Given the description of an element on the screen output the (x, y) to click on. 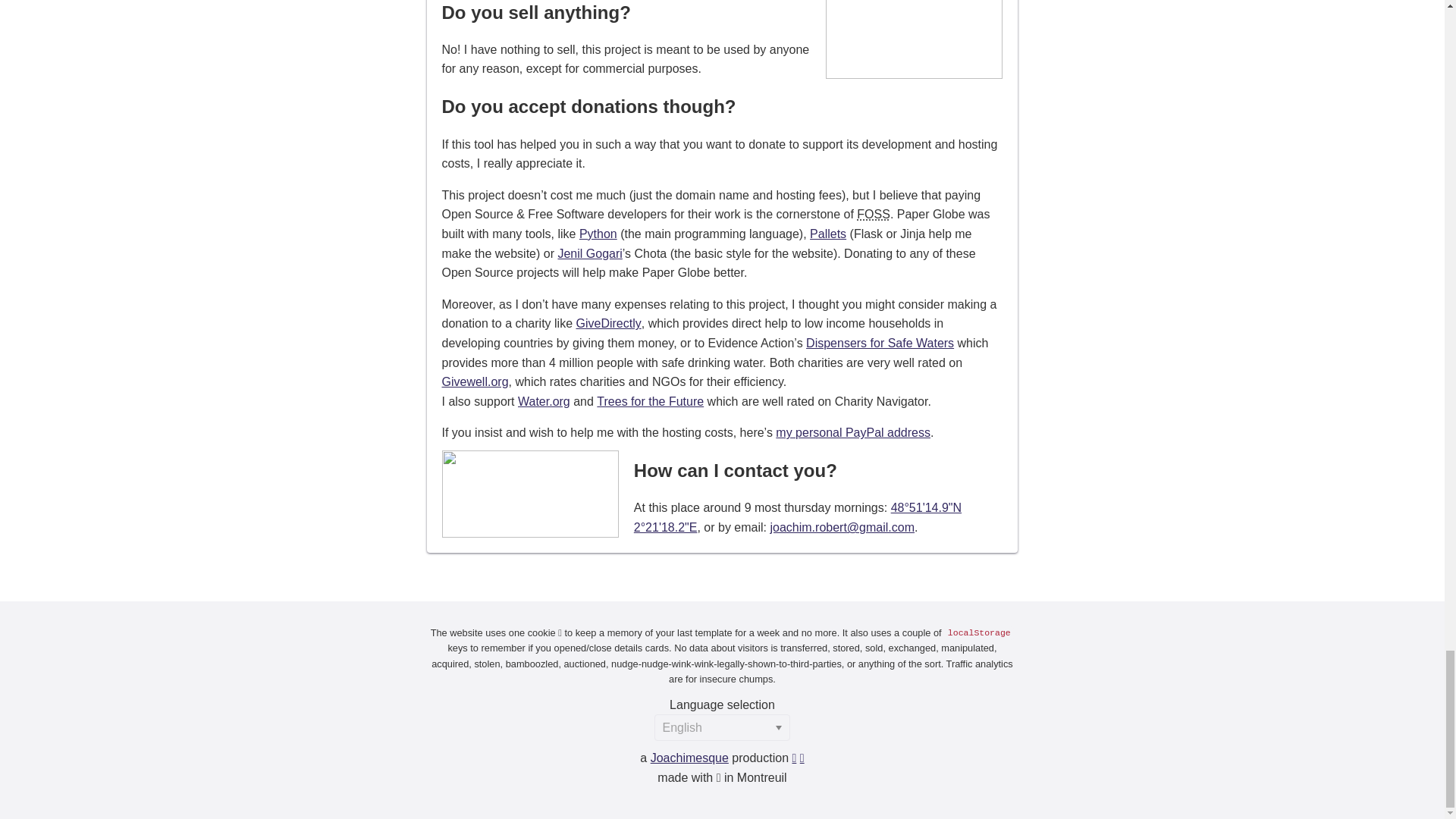
Givewell.org (474, 381)
GiveDirectly (609, 323)
Dispensers for Safe Waters (879, 342)
Jenil Gogari (589, 253)
Water.org (544, 400)
Python (598, 233)
my personal PayPal address (853, 431)
Joachimesque (689, 757)
Trees for the Future (649, 400)
Pallets (827, 233)
